Given the description of an element on the screen output the (x, y) to click on. 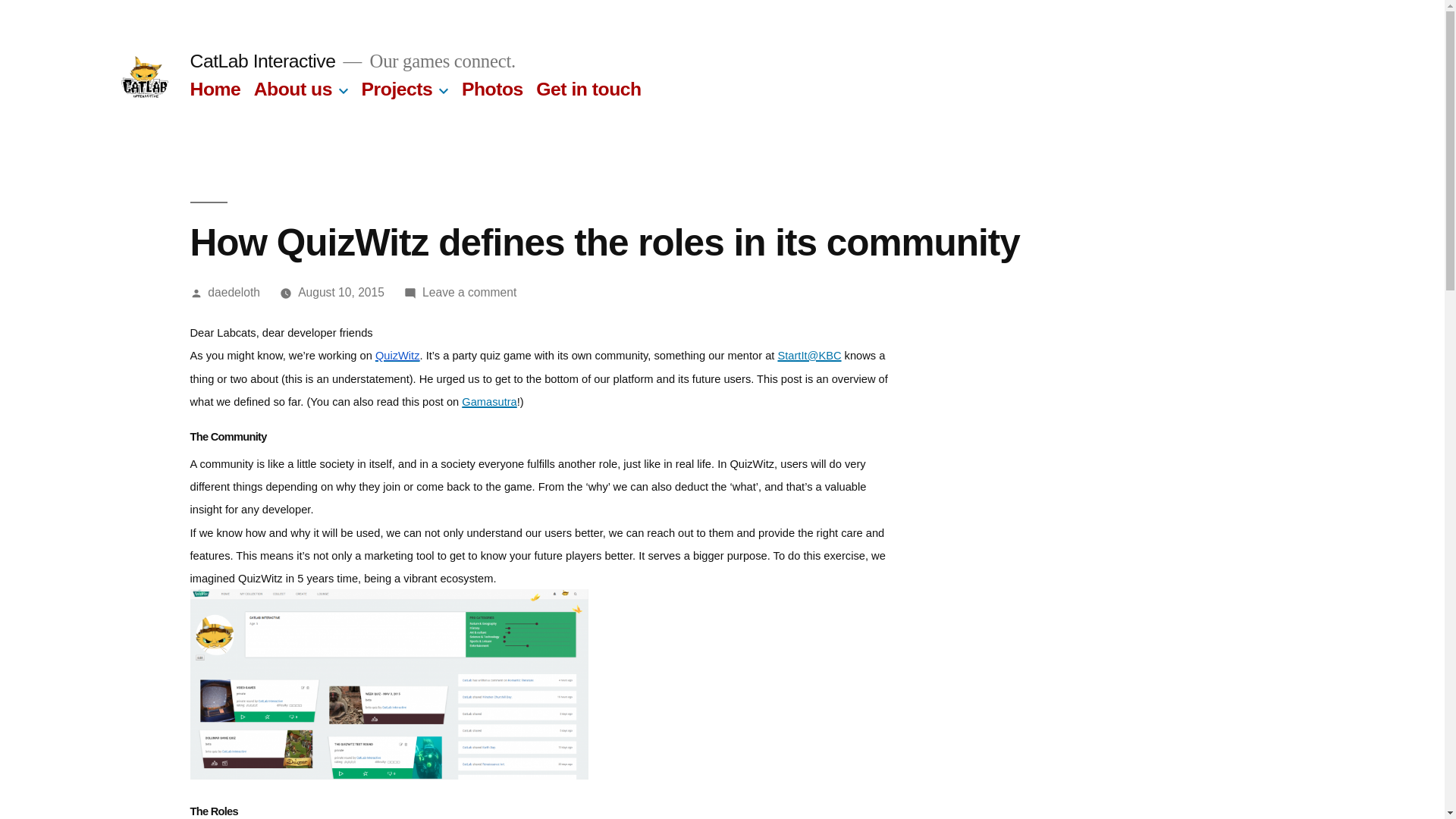
Get in touch (587, 88)
Photos (491, 88)
August 10, 2015 (341, 291)
CatLab Interactive (261, 60)
daedeloth (234, 291)
QuizWitz (397, 353)
About us (292, 88)
Home (214, 88)
Projects (396, 88)
